Given the description of an element on the screen output the (x, y) to click on. 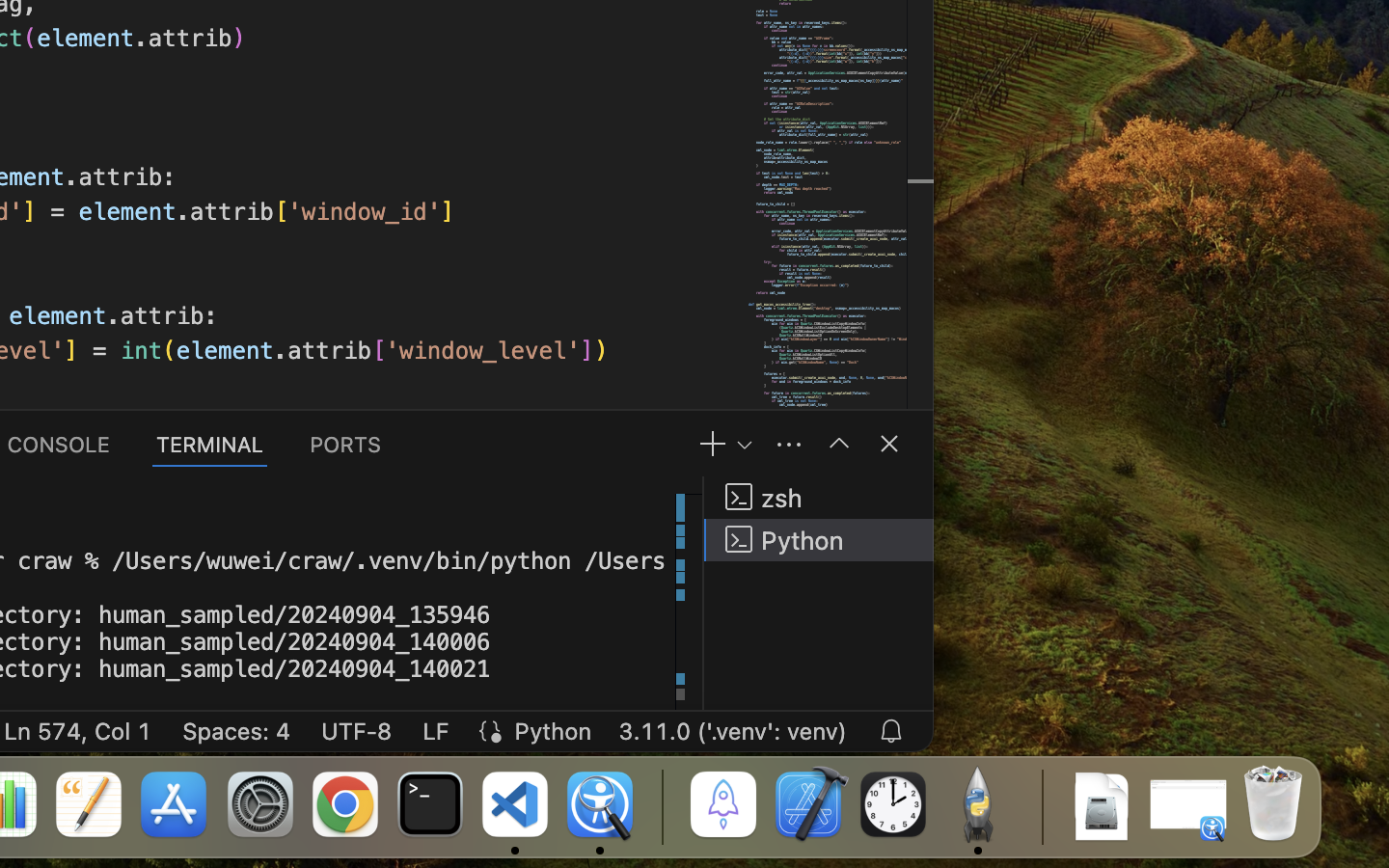
 Element type: AXCheckBox (838, 443)
0 PORTS Element type: AXRadioButton (346, 443)
